Given the description of an element on the screen output the (x, y) to click on. 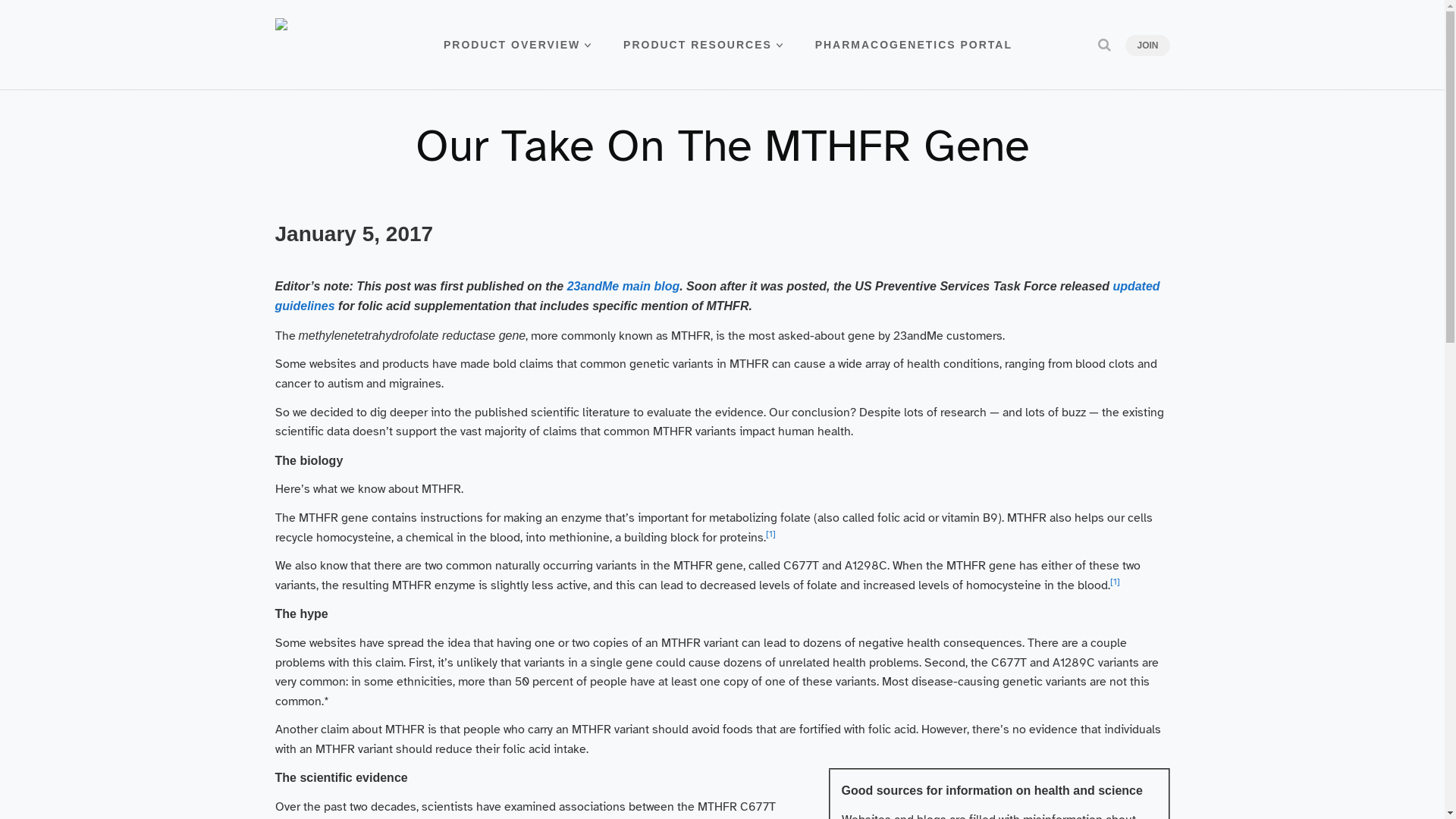
23andMe main blog Element type: text (623, 285)
PRODUCT OVERVIEW Element type: text (516, 45)
updated guidelines Element type: text (716, 296)
[1] Element type: text (1115, 585)
PRODUCT RESOURCES Element type: text (702, 45)
PHARMACOGENETICS PORTAL Element type: text (913, 45)
[1] Element type: text (770, 537)
JOIN Element type: text (1147, 45)
